Given the description of an element on the screen output the (x, y) to click on. 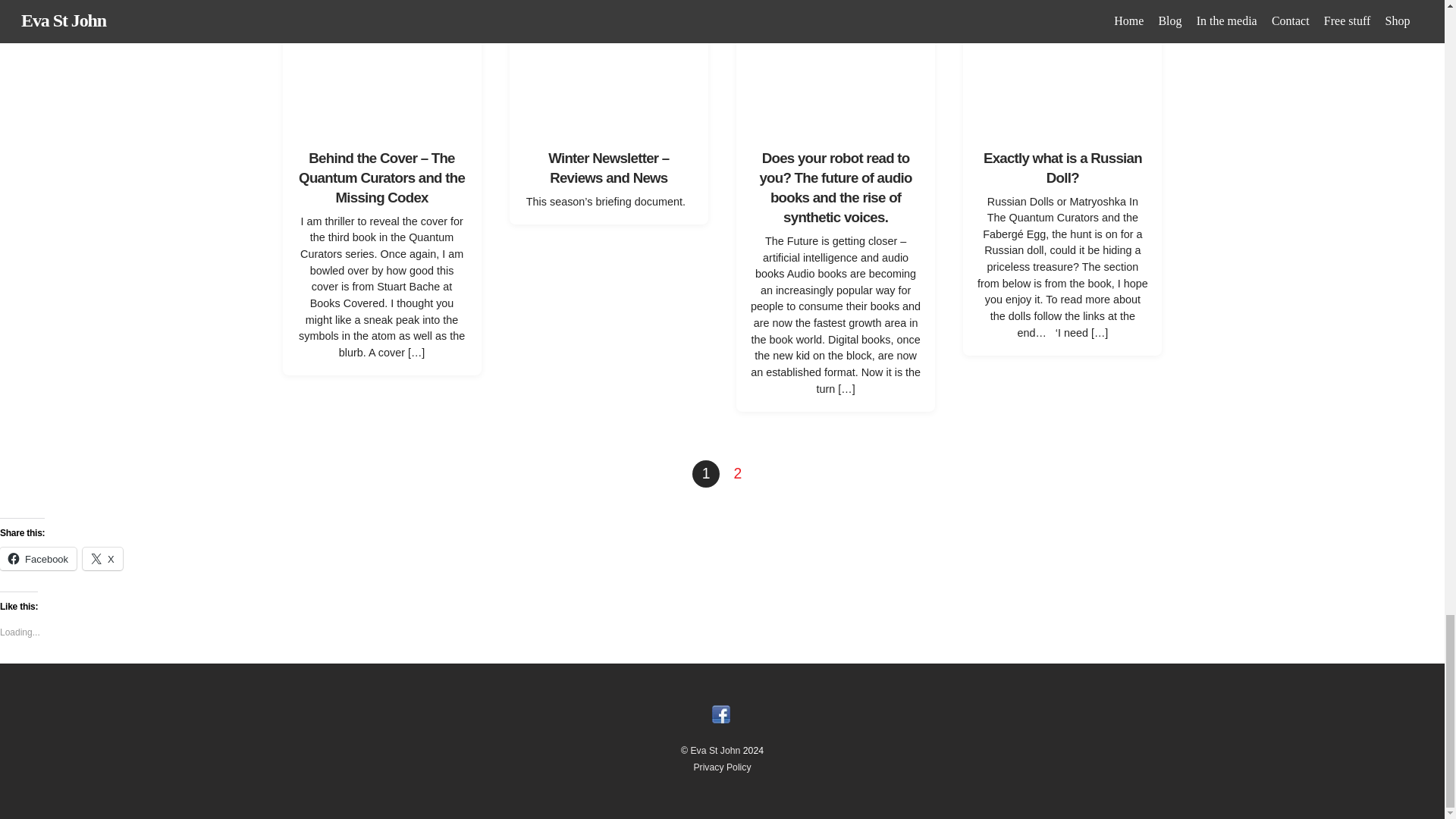
2 (737, 473)
X (102, 558)
Facebook (38, 558)
Exactly what is a Russian Doll? (1062, 167)
